Given the description of an element on the screen output the (x, y) to click on. 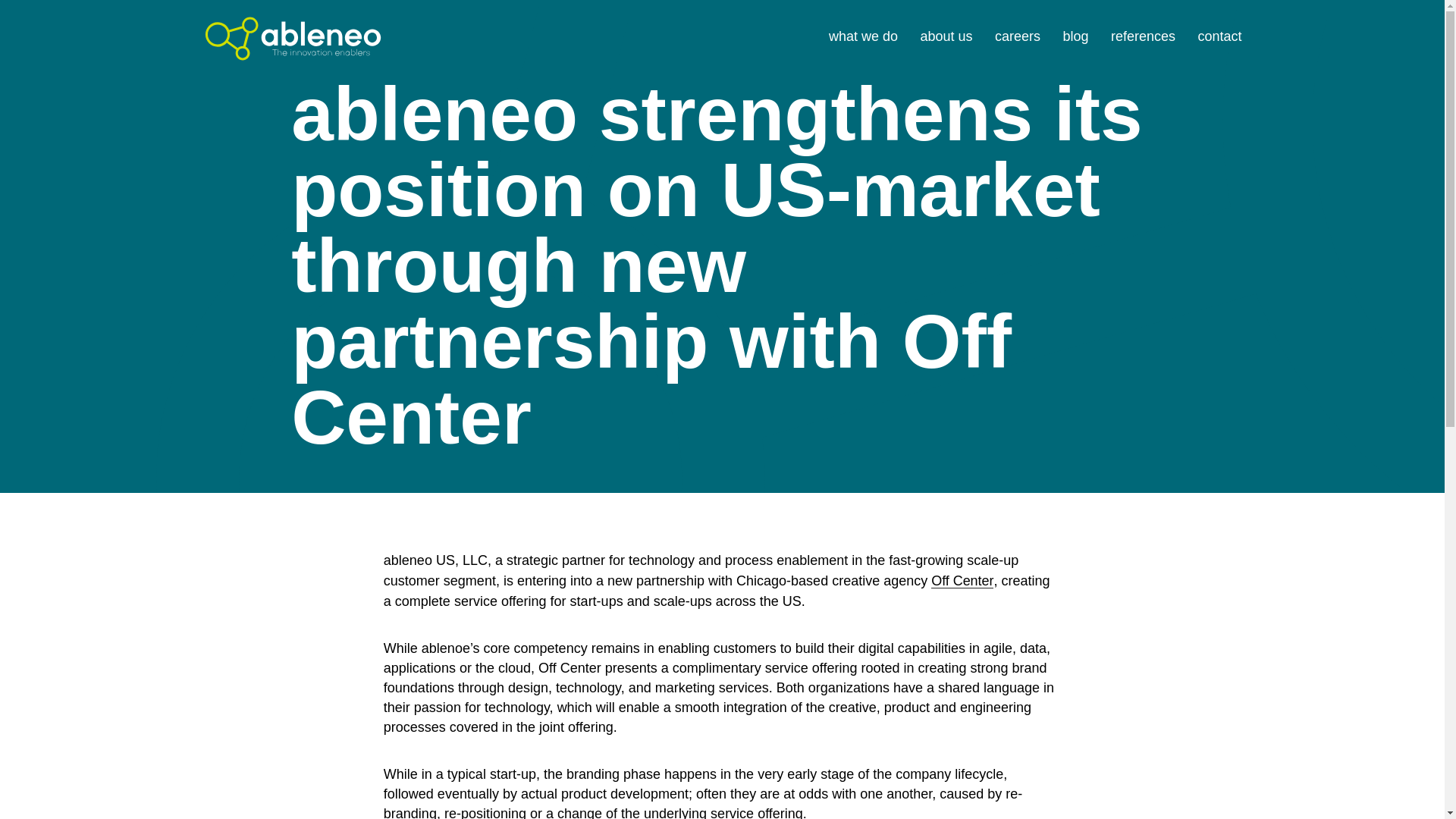
about us (946, 36)
Off Center (961, 580)
contact (1218, 36)
careers (1017, 36)
references (1142, 36)
blog (1074, 36)
